Given the description of an element on the screen output the (x, y) to click on. 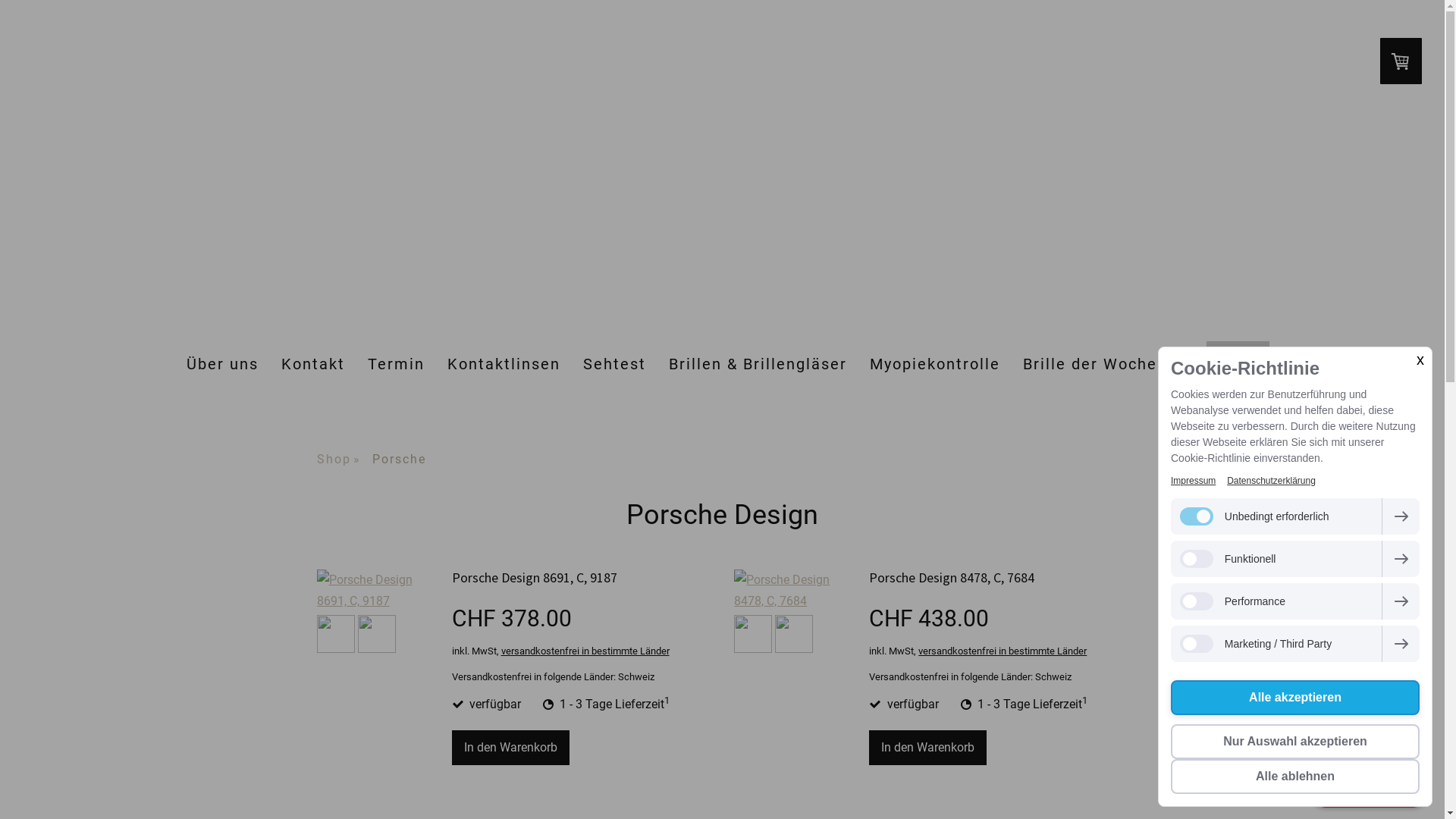
Impressum Element type: text (1192, 480)
Shop Element type: text (344, 459)
In den Warenkorb Element type: text (927, 747)
Brille der Woche 25% Element type: text (1108, 363)
Shop Element type: text (1237, 363)
Kontakt Element type: text (312, 363)
Termin Element type: text (396, 363)
Alle akzeptieren Element type: text (1294, 697)
Porsche Element type: text (405, 459)
Sehtest Element type: text (614, 363)
Alle ablehnen Element type: text (1294, 776)
Kontaktlinsen Element type: text (503, 363)
In den Warenkorb Element type: text (510, 747)
Myopiekontrolle Element type: text (934, 363)
Nur Auswahl akzeptieren Element type: text (1294, 741)
